Given the description of an element on the screen output the (x, y) to click on. 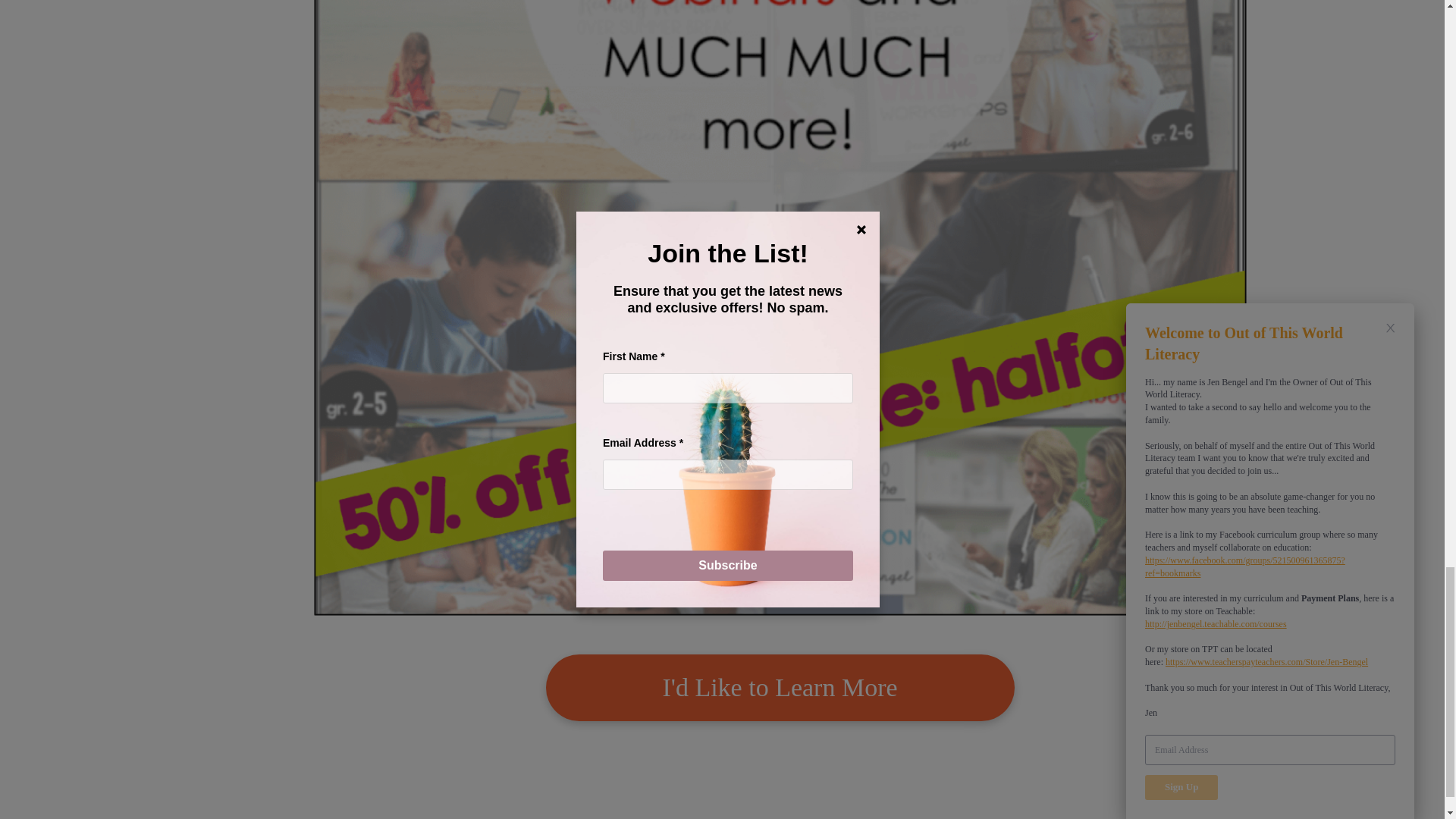
I'd Like to Learn More (780, 687)
